Given the description of an element on the screen output the (x, y) to click on. 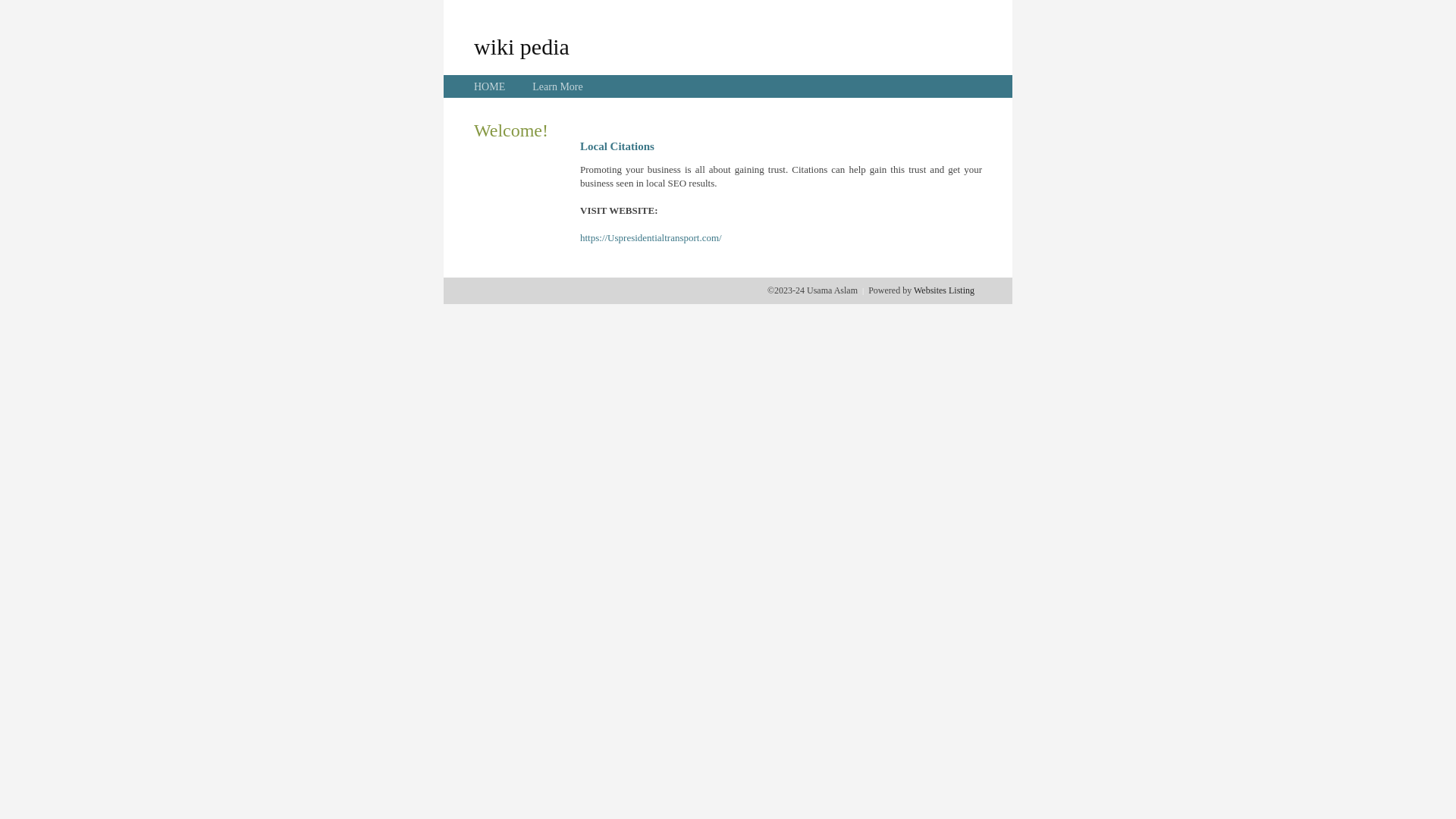
wiki pedia Element type: text (521, 46)
Websites Listing Element type: text (943, 290)
HOME Element type: text (489, 86)
https://Uspresidentialtransport.com/ Element type: text (650, 237)
Learn More Element type: text (557, 86)
